Given the description of an element on the screen output the (x, y) to click on. 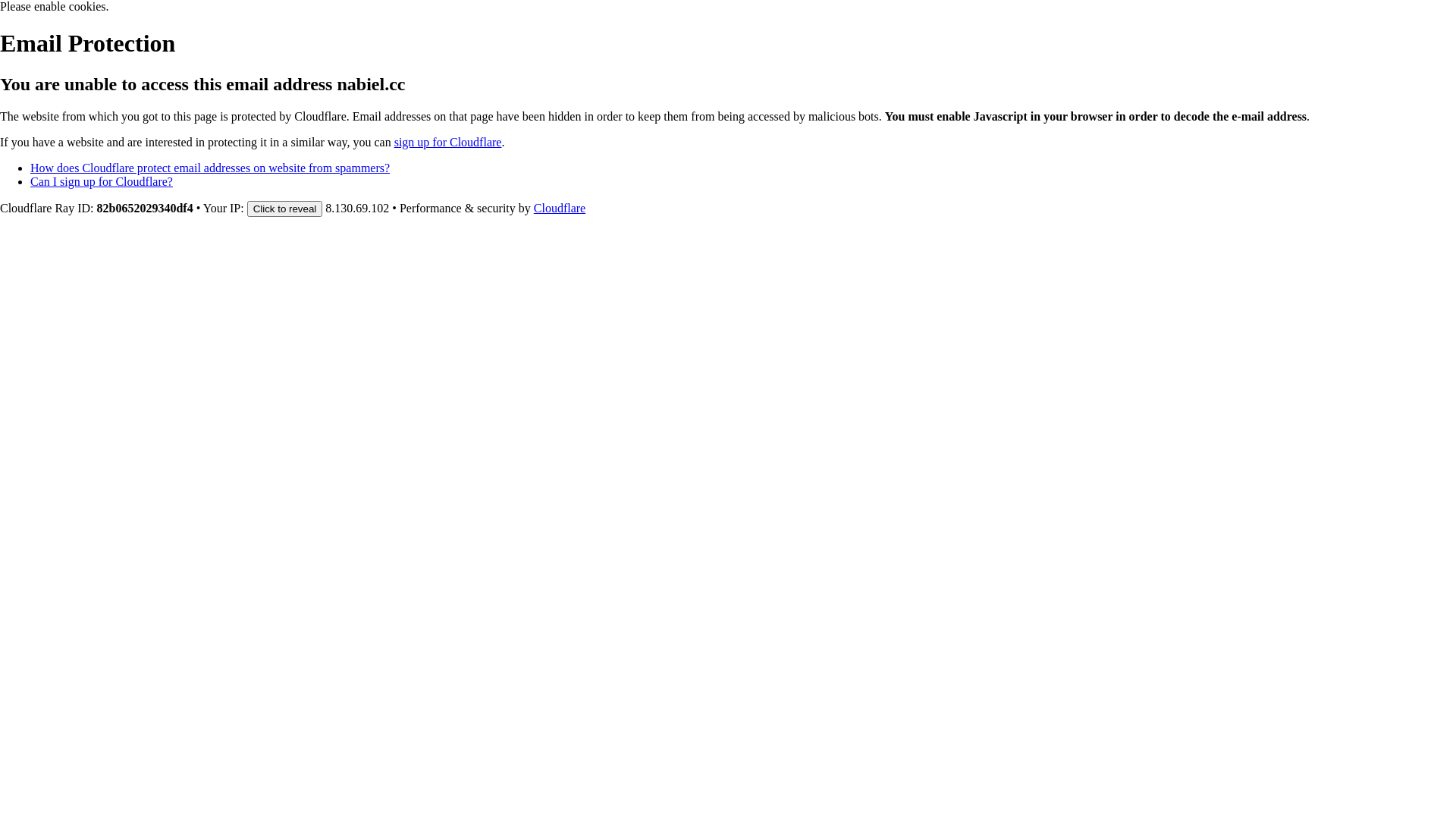
Cloudflare Element type: text (559, 207)
Click to reveal Element type: text (285, 208)
sign up for Cloudflare Element type: text (448, 141)
Can I sign up for Cloudflare? Element type: text (101, 181)
